Given the description of an element on the screen output the (x, y) to click on. 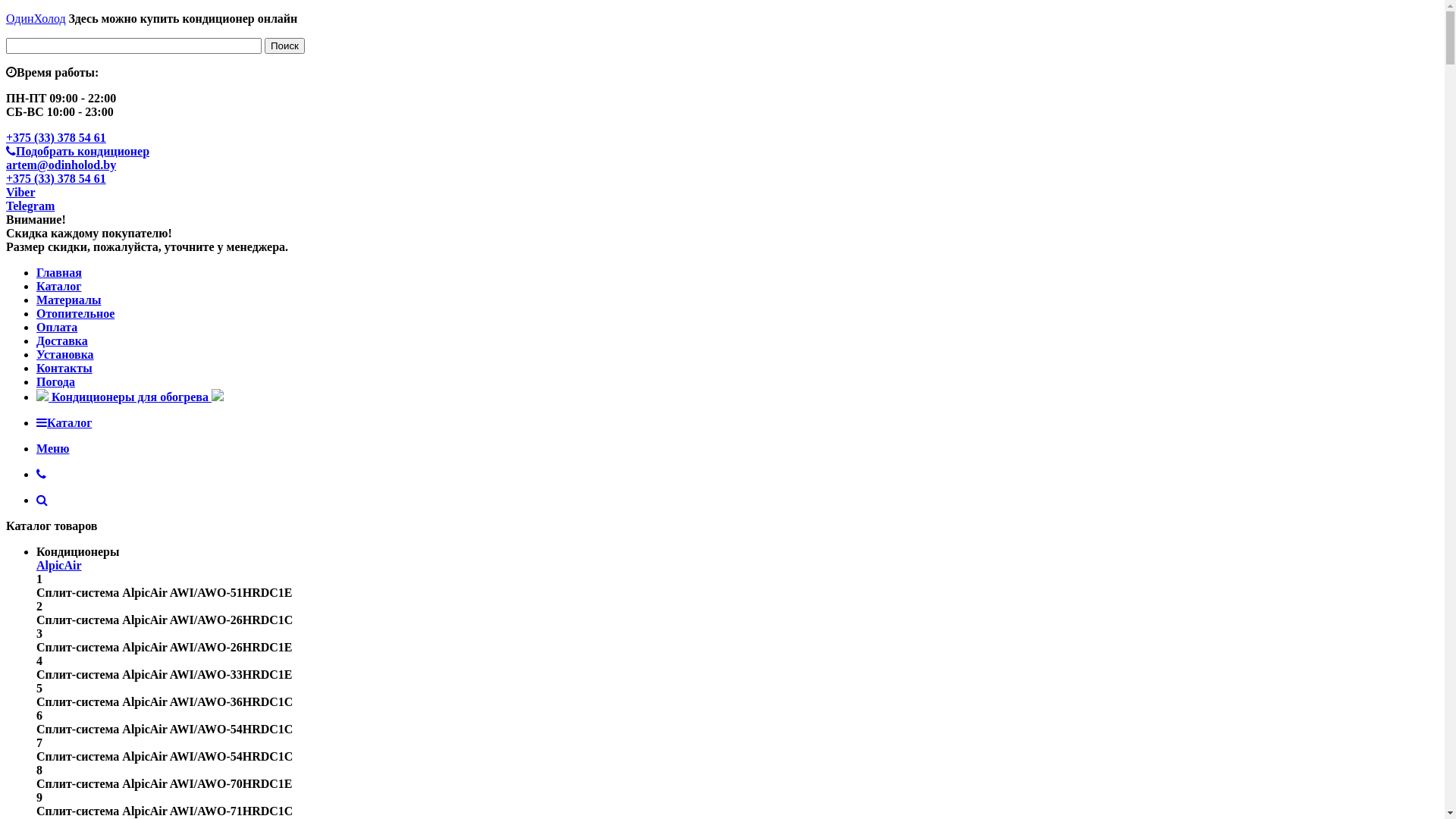
+375 (33) 378 54 61 Element type: text (56, 137)
AlpicAir Element type: text (58, 564)
artem@odinholod.by Element type: text (61, 164)
Telegram Element type: text (30, 205)
Viber Element type: text (20, 191)
+375 (33) 378 54 61 Element type: text (56, 178)
